Given the description of an element on the screen output the (x, y) to click on. 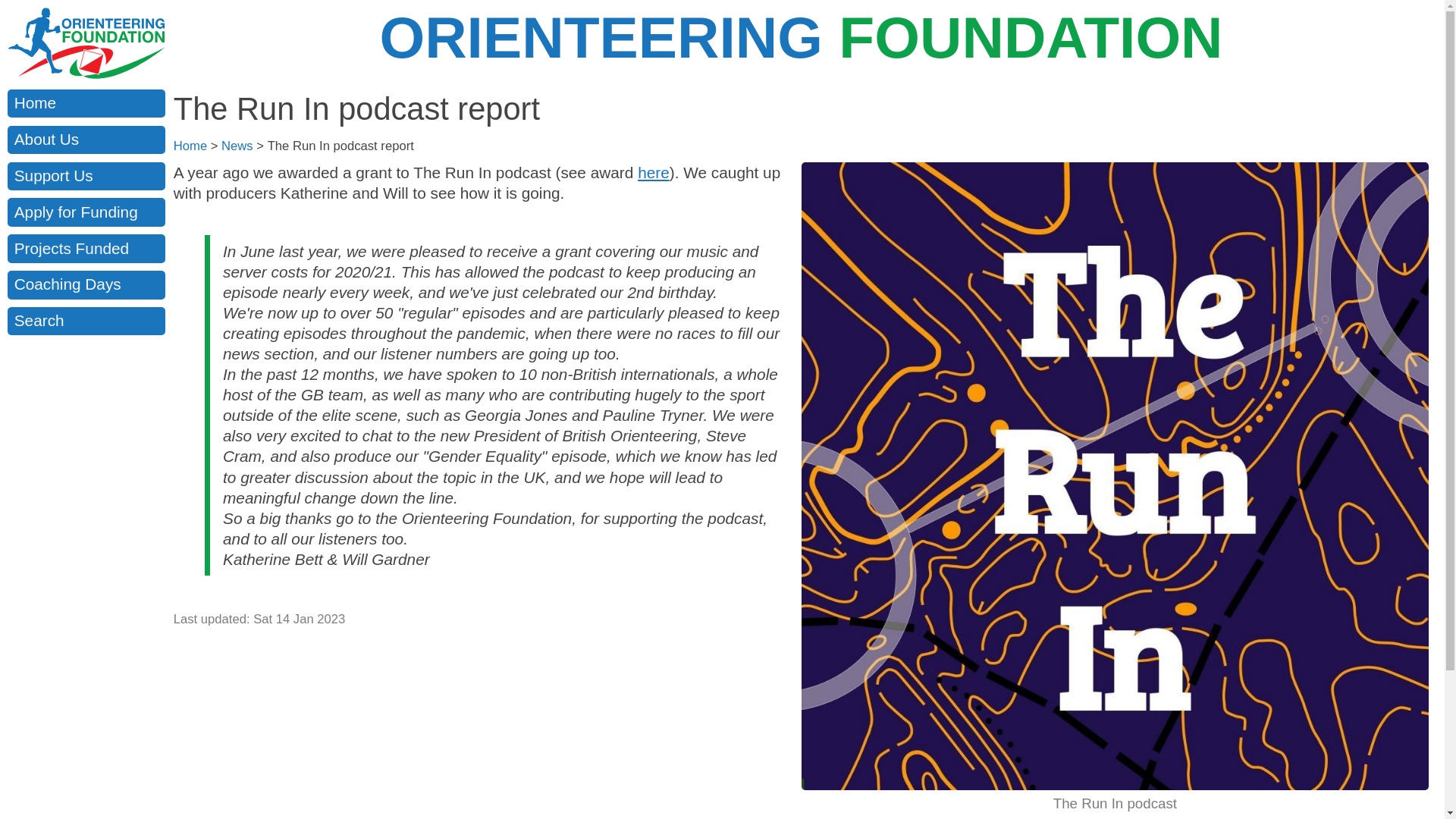
News (237, 145)
Apply for Funding (86, 212)
About Us (86, 139)
Support Us (86, 176)
Who are we (86, 139)
Home (86, 103)
here (653, 171)
Home (189, 145)
Return to the front page of this site (86, 103)
Projects Funded (86, 248)
